Given the description of an element on the screen output the (x, y) to click on. 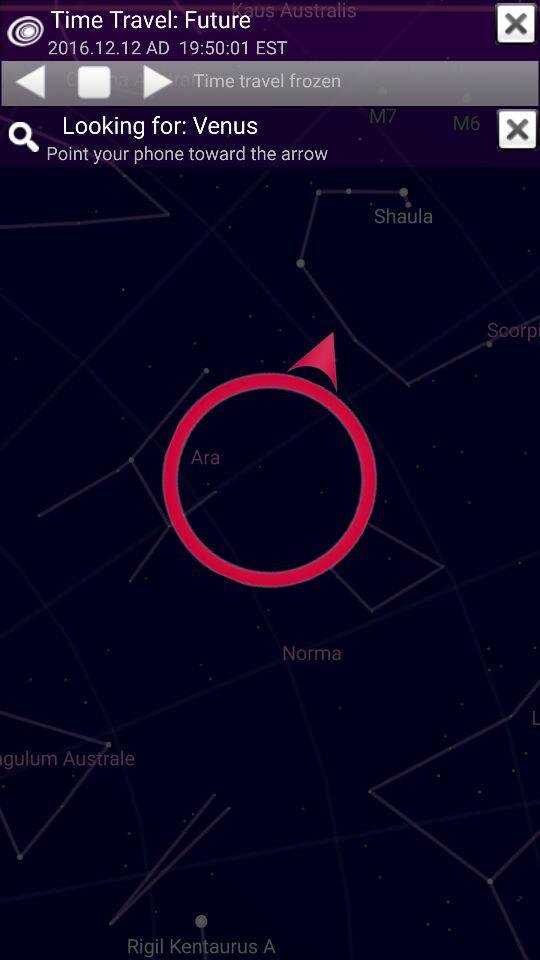
close notification (516, 24)
